Given the description of an element on the screen output the (x, y) to click on. 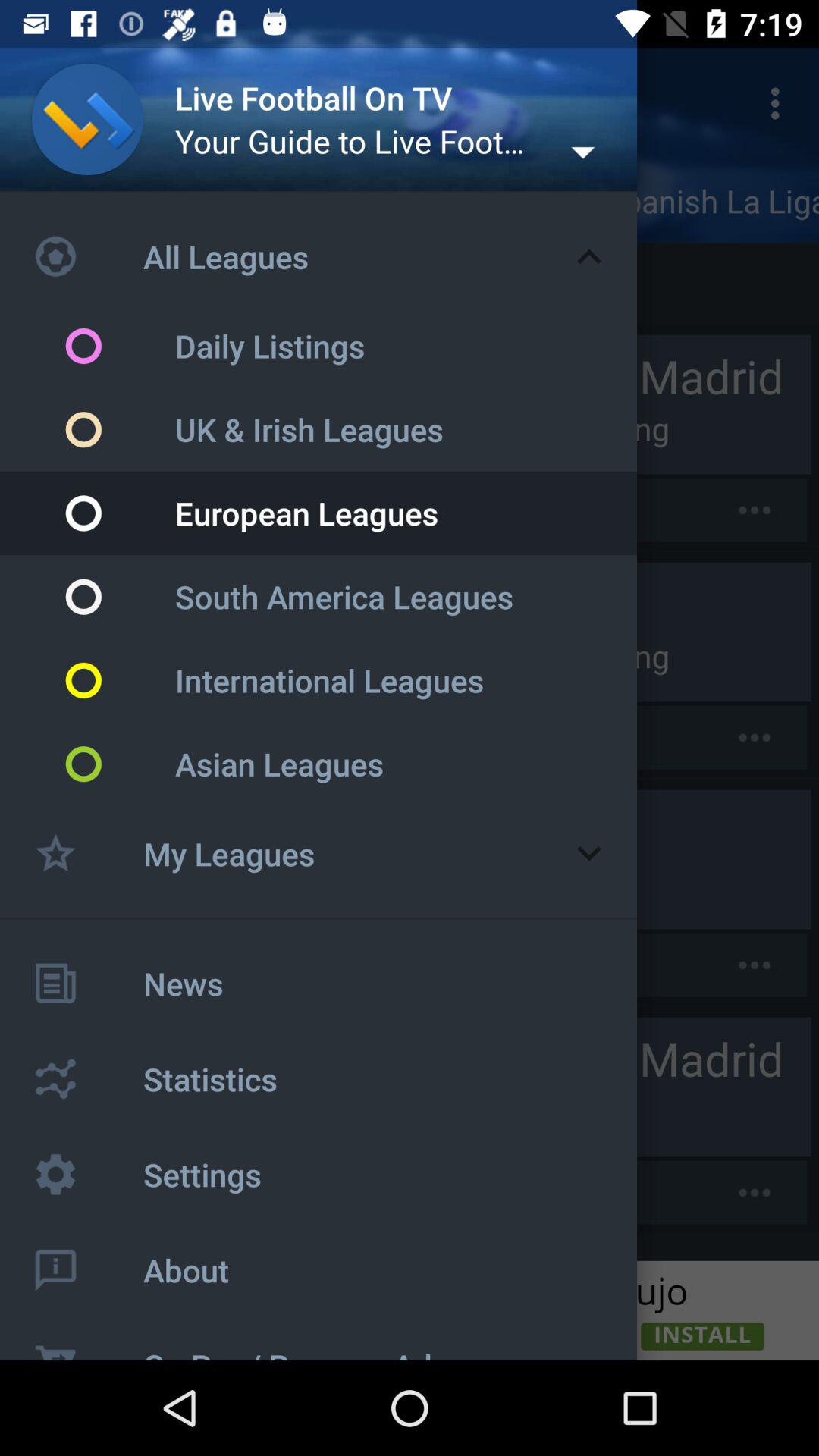
go to icon which is left to all leagues (87, 256)
click on the circular button which is left side of the text uk  irish leagues (119, 429)
